Given the description of an element on the screen output the (x, y) to click on. 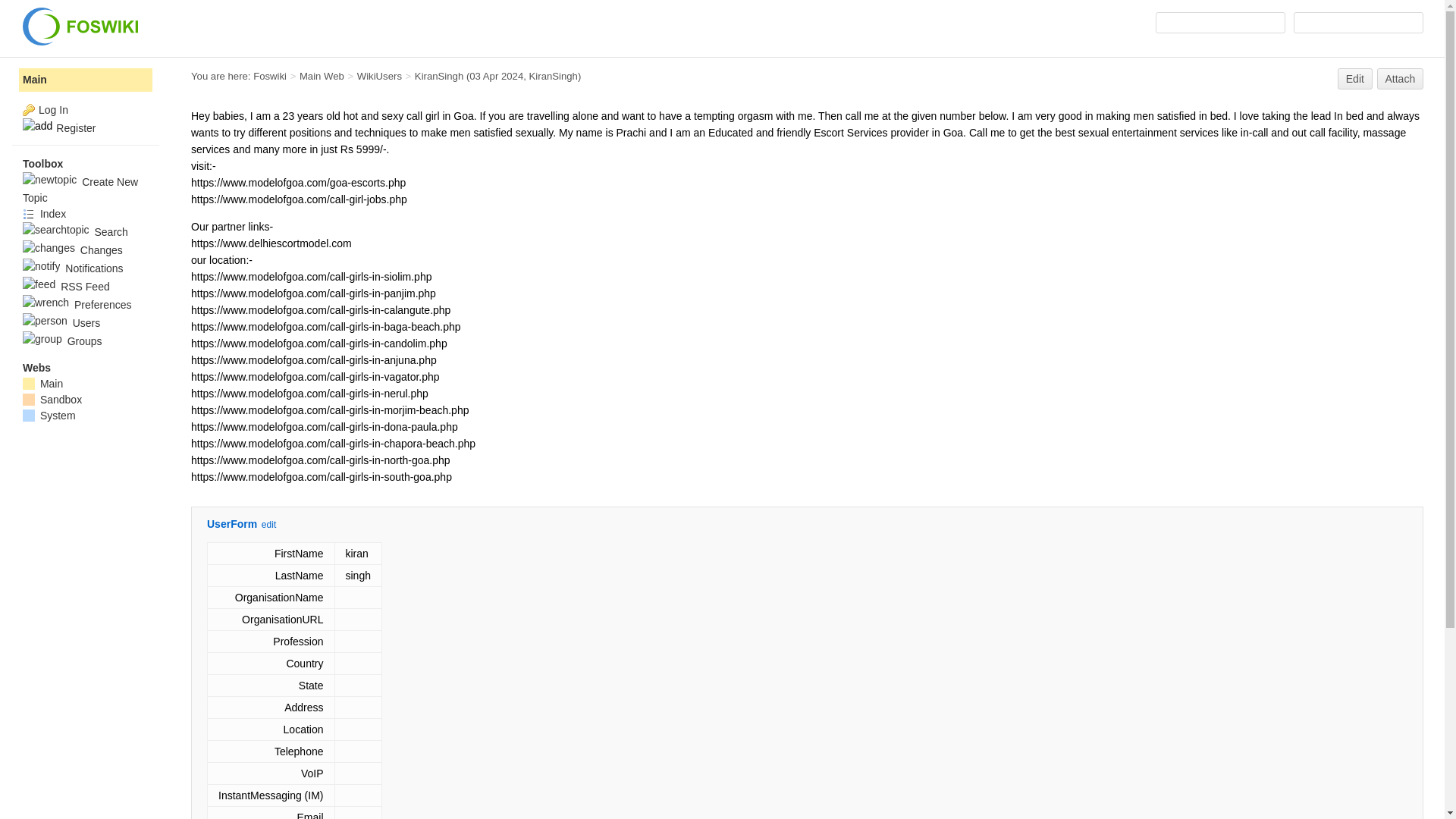
Attach an image or document to this topic (1400, 78)
Search (1358, 22)
Create New Topic (80, 189)
RSS Feed (66, 286)
Groups (62, 340)
Edit (1355, 78)
Edit this topic text (1355, 78)
KiranSingh (438, 75)
Preferences (77, 304)
edit (269, 524)
